Given the description of an element on the screen output the (x, y) to click on. 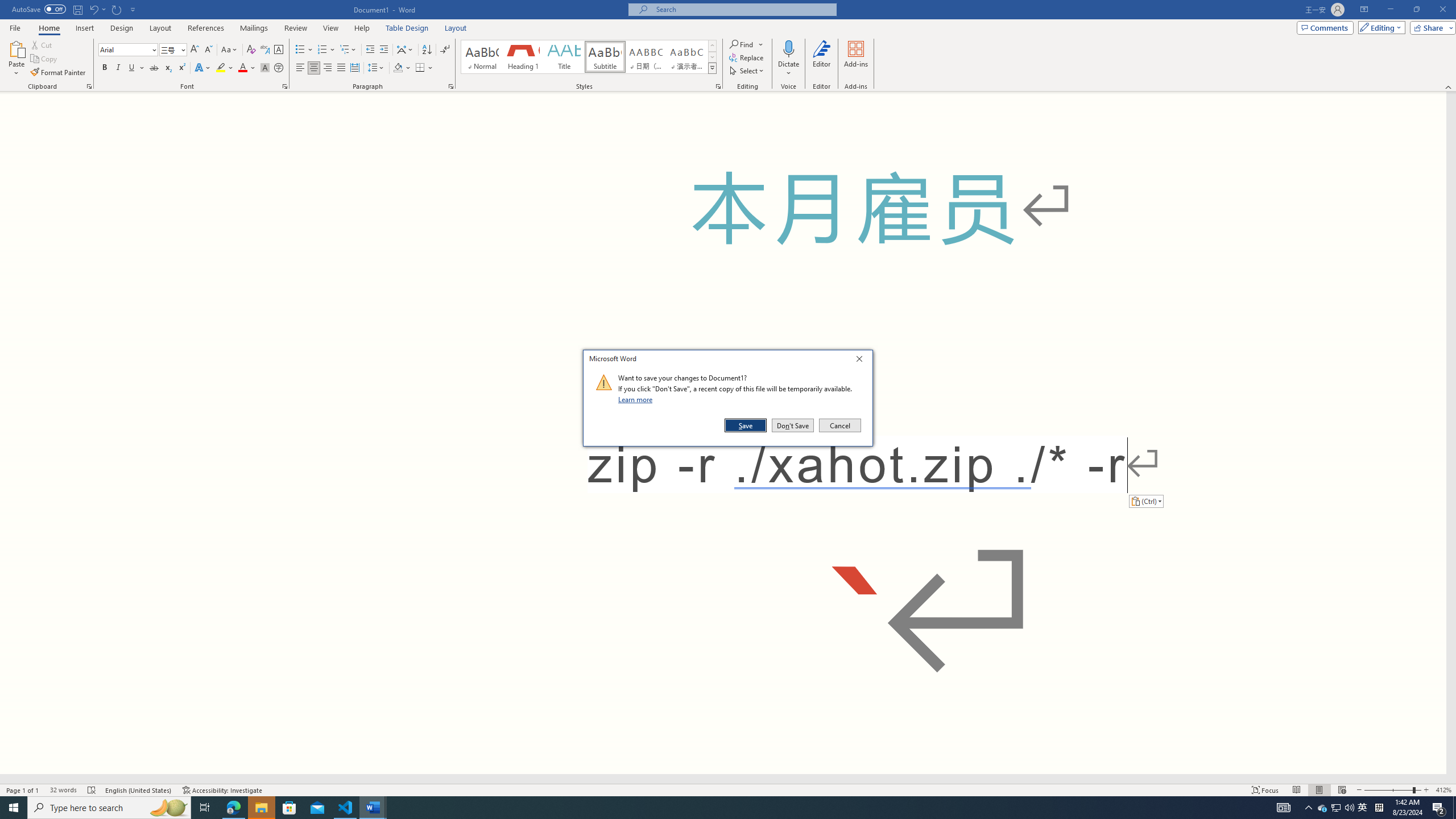
Styles... (717, 85)
Action Center, 2 new notifications (1439, 807)
Cut (42, 44)
User Promoted Notification Area (1336, 807)
Quick Access Toolbar (74, 9)
Heading 1 (522, 56)
View (330, 28)
Font (128, 49)
Numbering (326, 49)
Word Count 32 words (63, 790)
Clear Formatting (250, 49)
Borders (424, 67)
Undo Paste (96, 9)
